Given the description of an element on the screen output the (x, y) to click on. 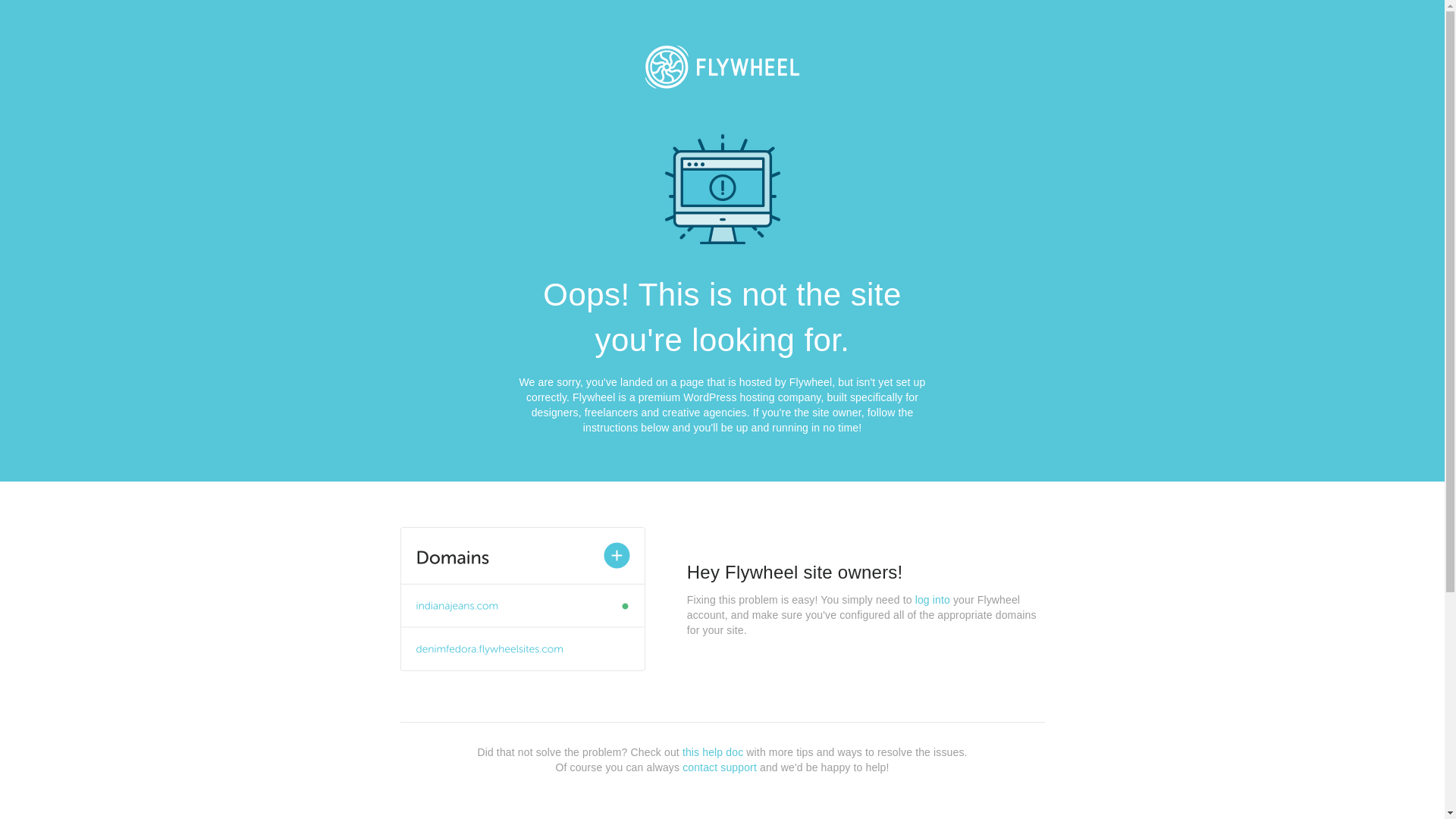
this help doc (712, 752)
contact support (719, 767)
log into (932, 599)
